Given the description of an element on the screen output the (x, y) to click on. 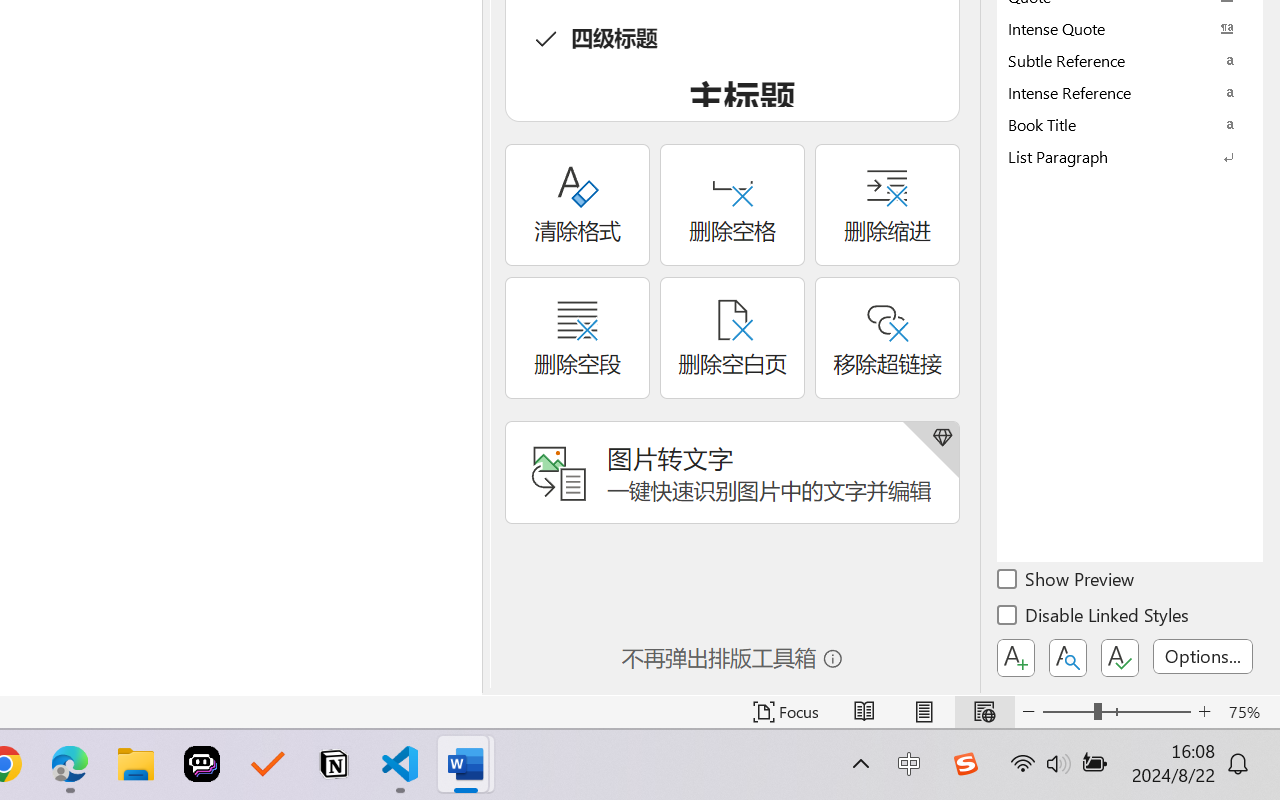
Book Title (1130, 124)
Zoom Out (1067, 712)
Focus  (786, 712)
Intense Quote (1130, 28)
List Paragraph (1130, 156)
Web Layout (984, 712)
Class: Image (965, 764)
